Given the description of an element on the screen output the (x, y) to click on. 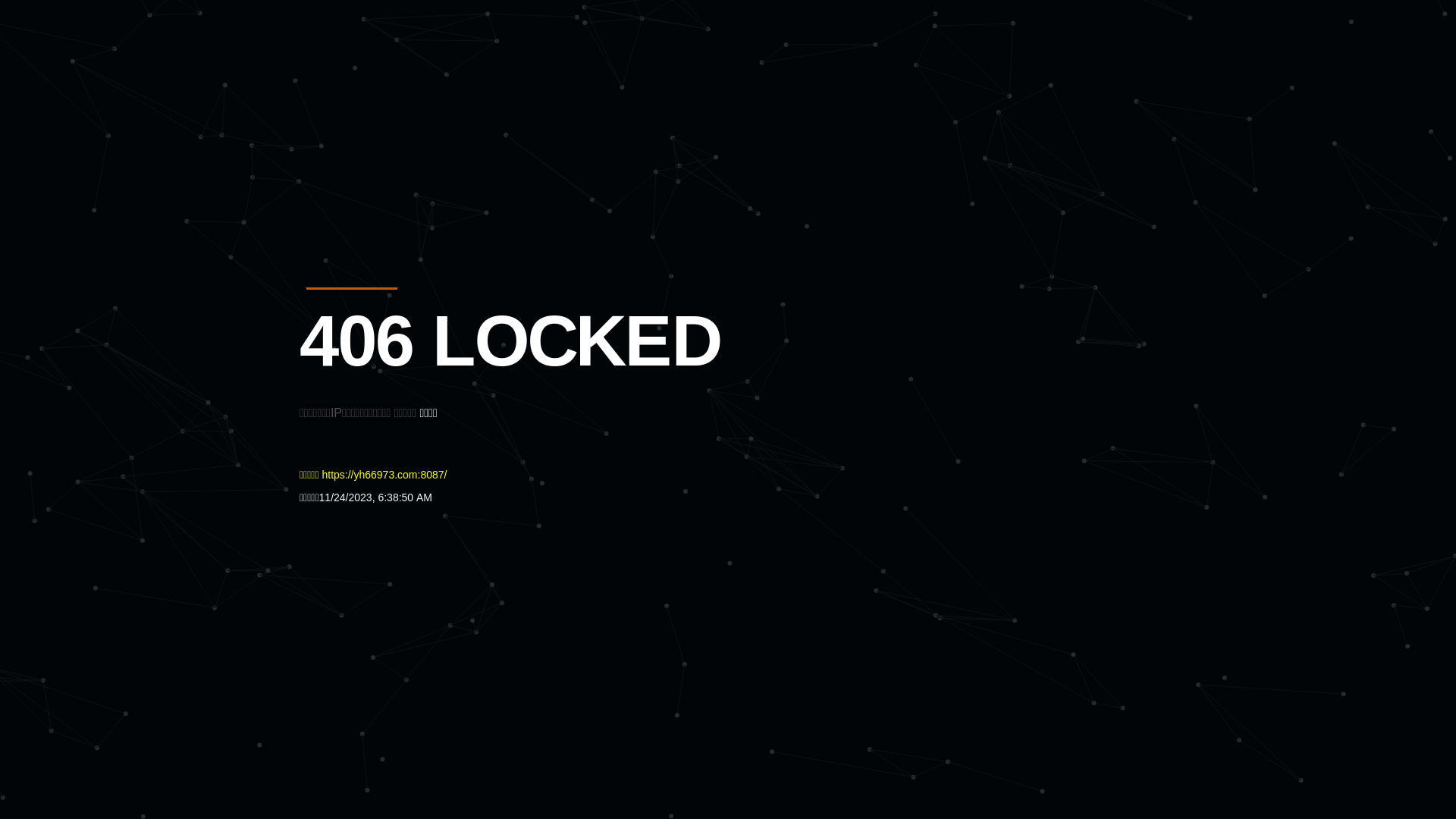
Quatro Element type: text (410, 86)
